Given the description of an element on the screen output the (x, y) to click on. 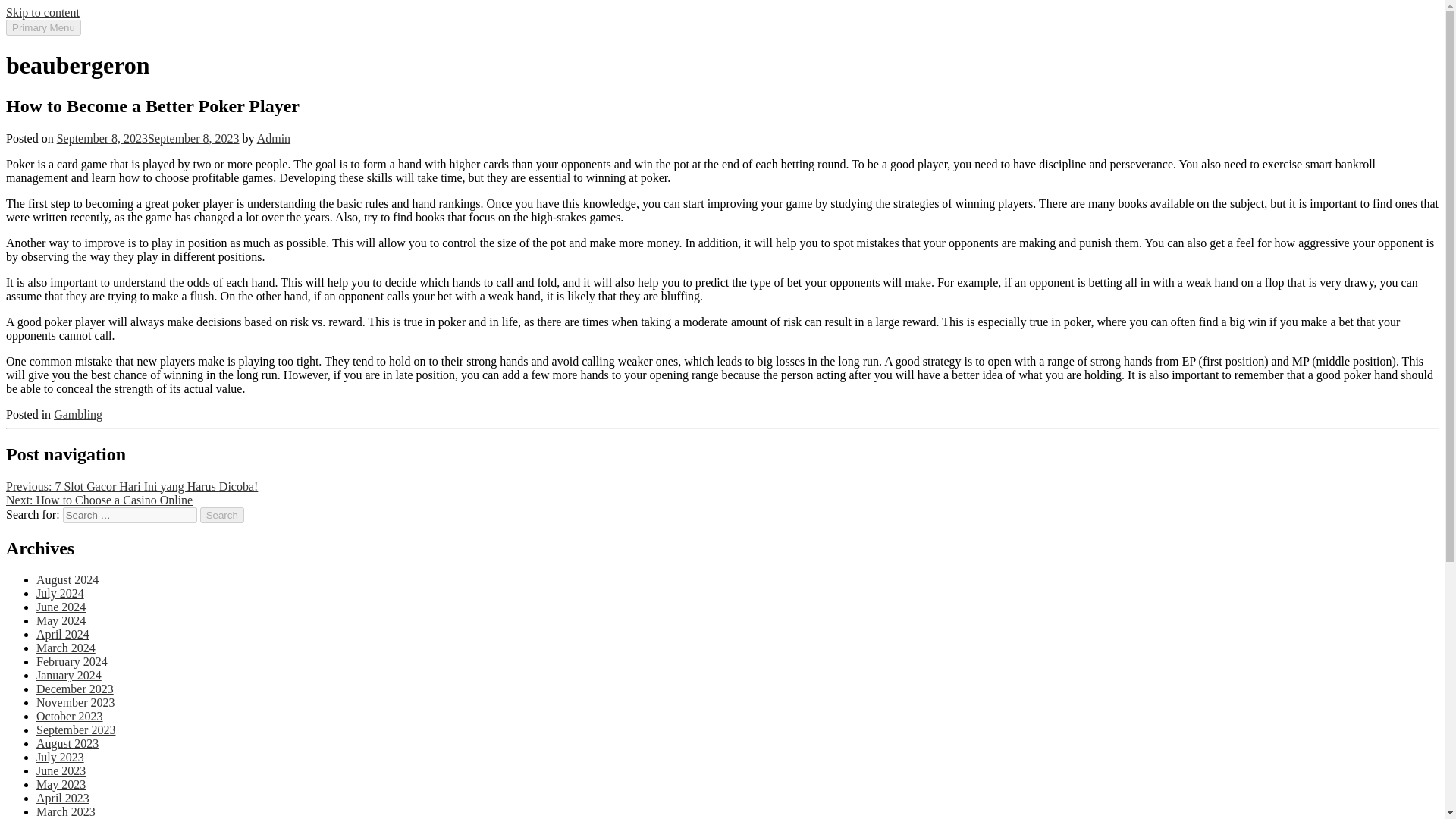
September 8, 2023September 8, 2023 (148, 137)
Previous: 7 Slot Gacor Hari Ini yang Harus Dicoba! (131, 486)
June 2023 (60, 770)
Admin (273, 137)
September 2023 (75, 729)
February 2024 (71, 661)
November 2023 (75, 702)
Next: How to Choose a Casino Online (98, 499)
March 2024 (66, 647)
May 2024 (60, 620)
